Given the description of an element on the screen output the (x, y) to click on. 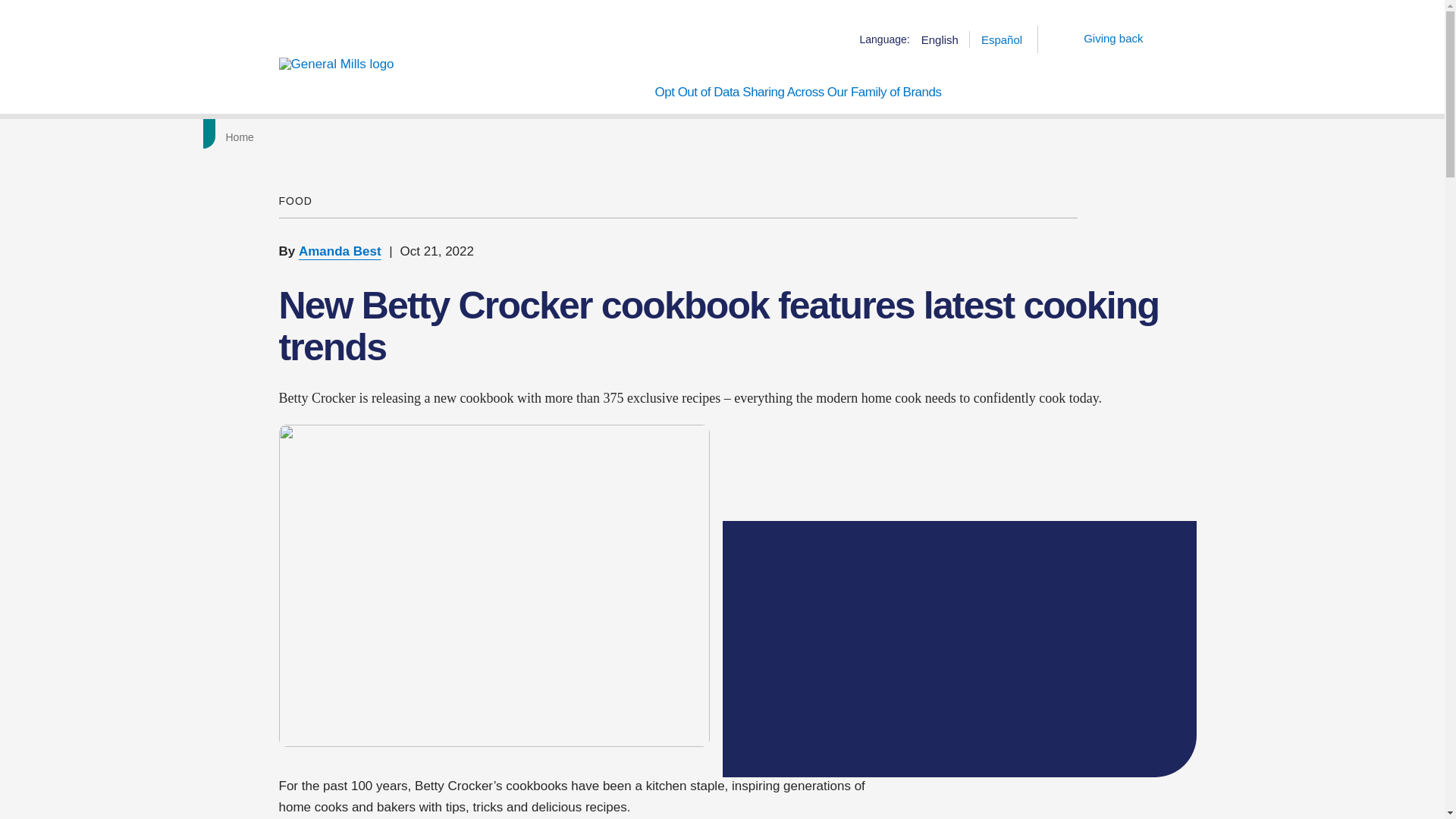
Opt Out of Data Sharing Across Our Family of Brands (798, 94)
Amanda Best (339, 251)
English (939, 39)
Giving back (1100, 37)
Giving back (1100, 37)
General Mills (343, 63)
